Given the description of an element on the screen output the (x, y) to click on. 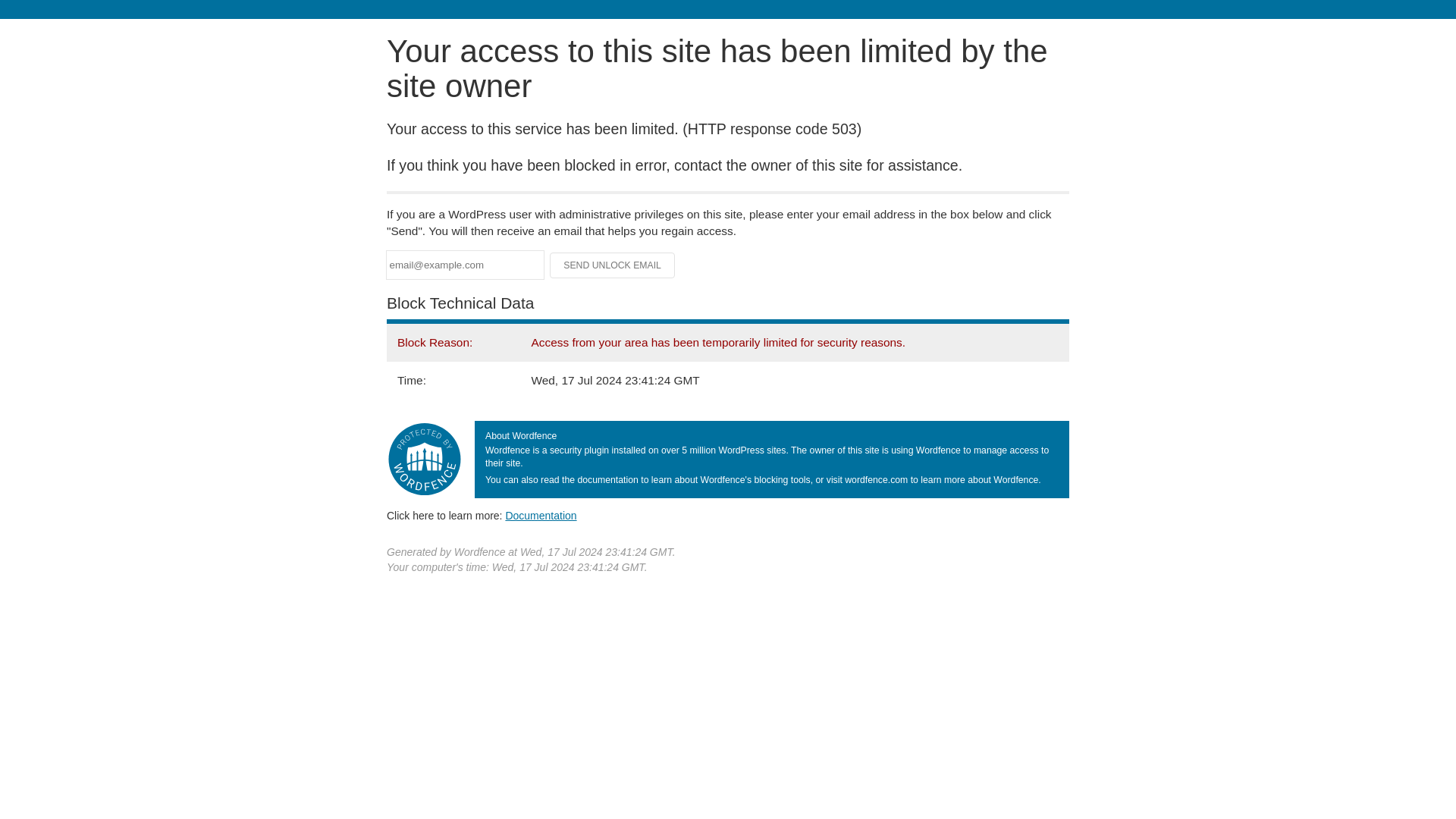
Documentation (540, 515)
Send Unlock Email (612, 265)
Send Unlock Email (612, 265)
